Given the description of an element on the screen output the (x, y) to click on. 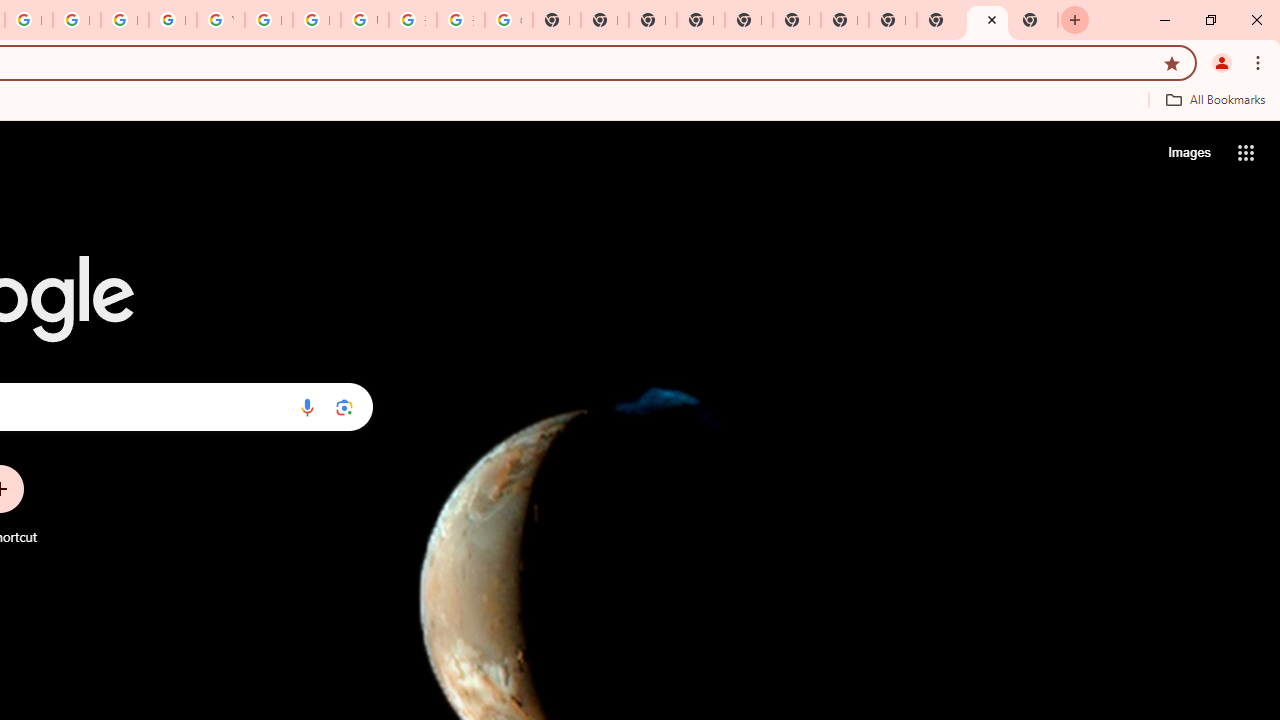
New Tab (700, 20)
